Given the description of an element on the screen output the (x, y) to click on. 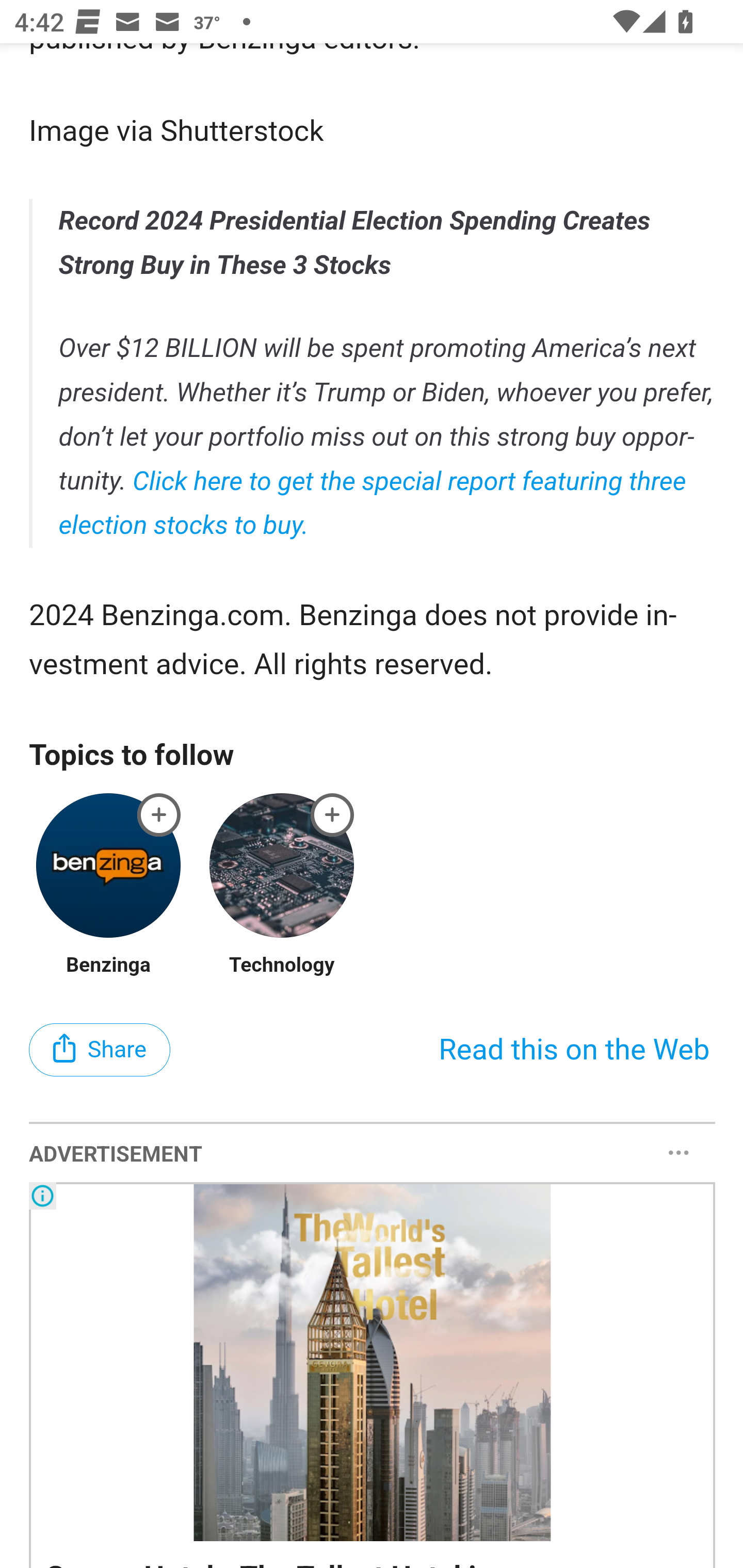
Benzinga (108, 966)
Technology (281, 966)
Read this on the Web (573, 1051)
Share (99, 1050)
